Given the description of an element on the screen output the (x, y) to click on. 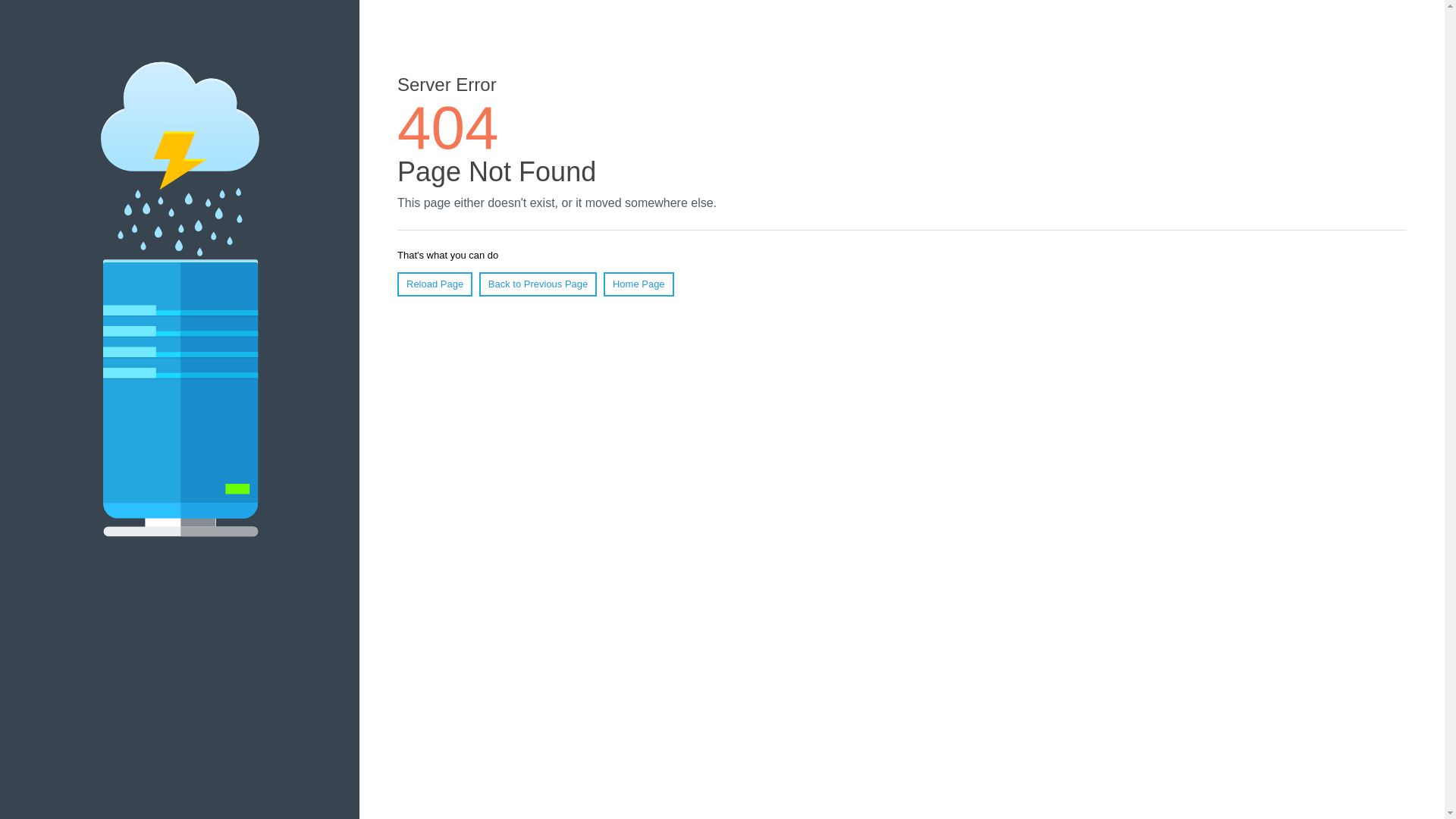
Home Page Element type: text (638, 284)
Back to Previous Page Element type: text (538, 284)
Reload Page Element type: text (434, 284)
